Given the description of an element on the screen output the (x, y) to click on. 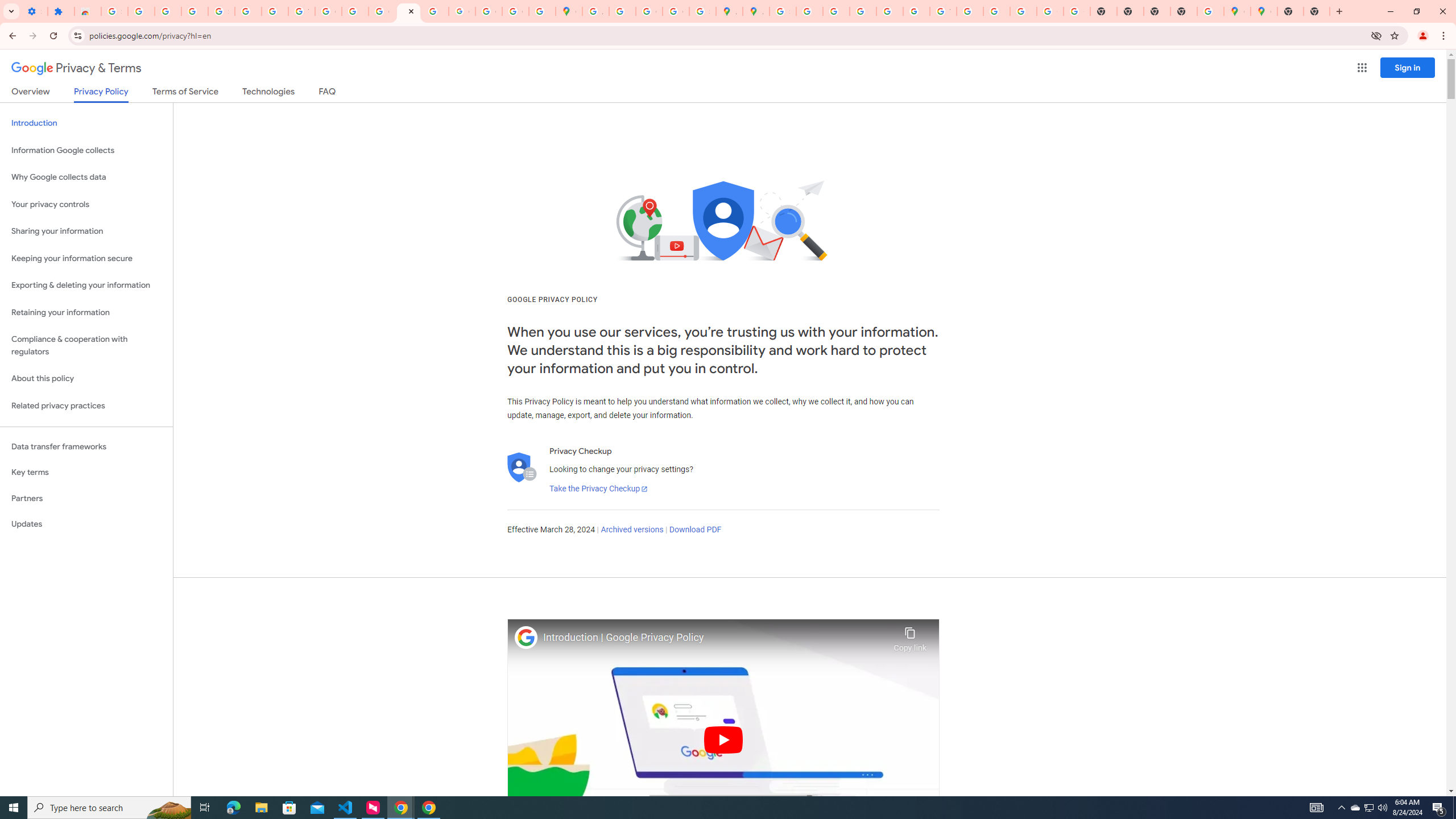
Copy link (909, 636)
Sign in - Google Accounts (221, 11)
YouTube (943, 11)
Data transfer frameworks (86, 446)
Overview (30, 93)
Close (411, 11)
Take the Privacy Checkup (597, 488)
About this policy (86, 379)
Reviews: Helix Fruit Jump Arcade Game (87, 11)
Partners (86, 497)
